Given the description of an element on the screen output the (x, y) to click on. 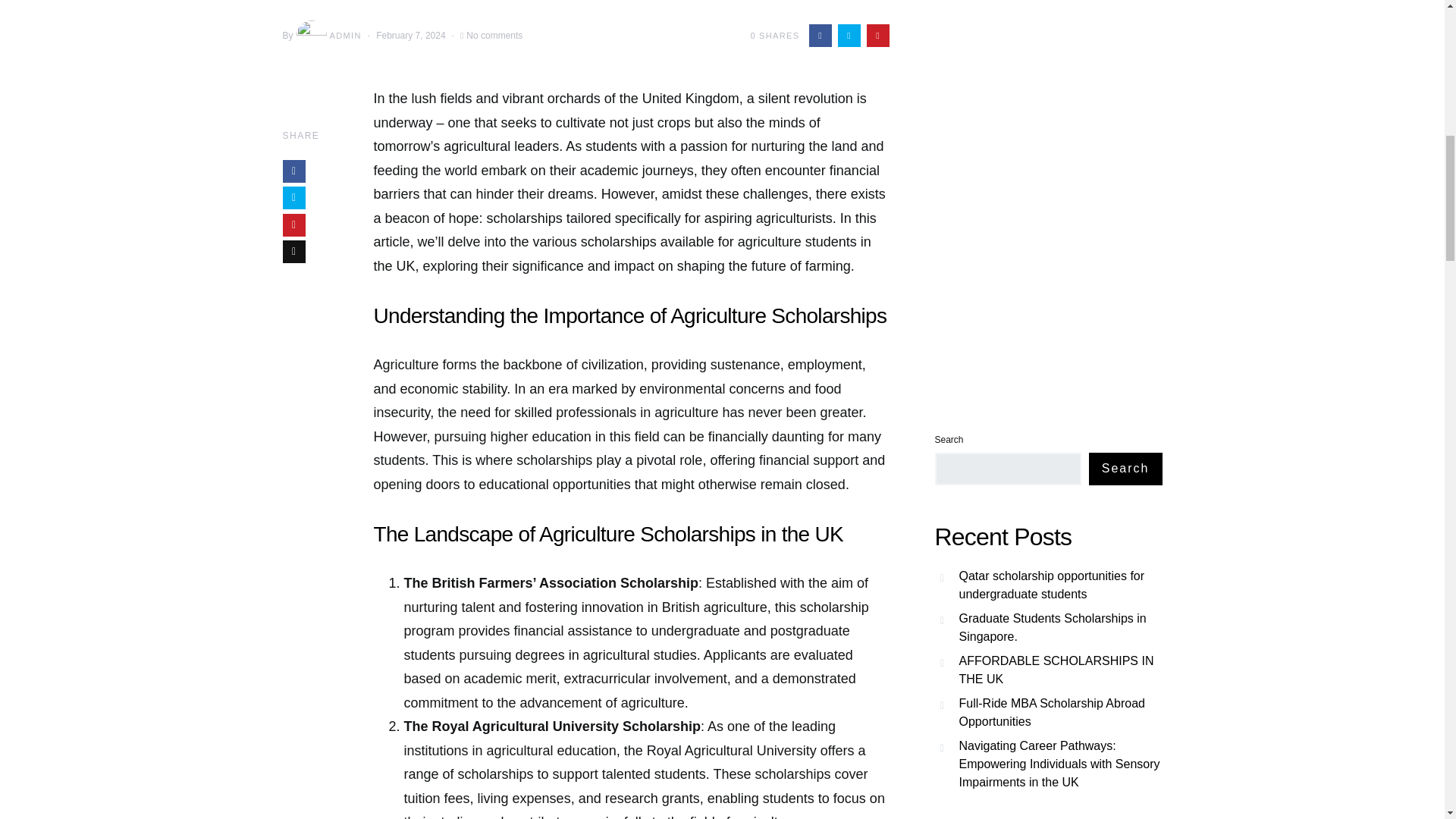
No comments (493, 35)
ADMIN (327, 35)
View all posts by Admin (327, 35)
